Given the description of an element on the screen output the (x, y) to click on. 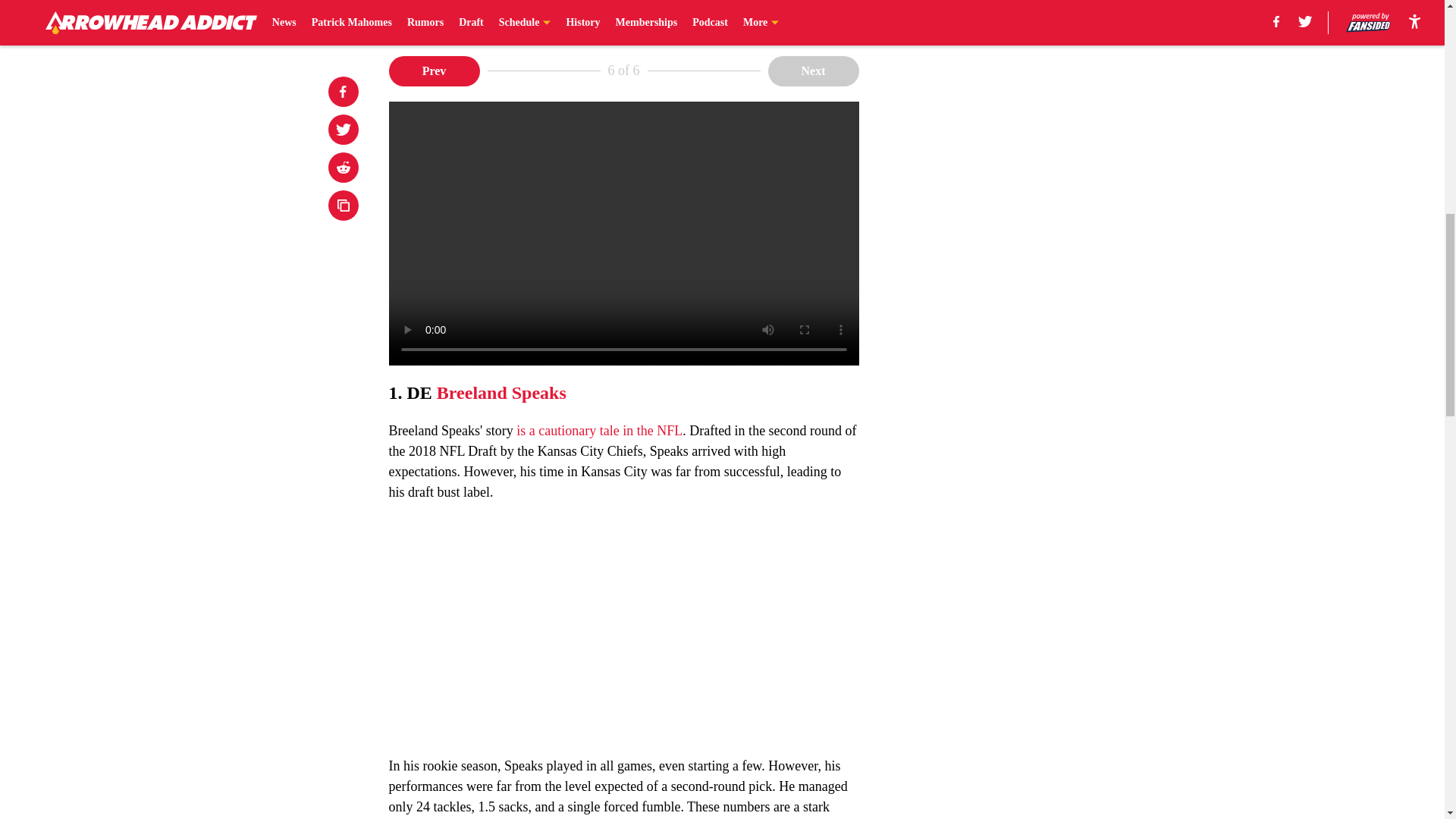
is a cautionary tale in the NFL (599, 430)
Prev (433, 71)
3rd party ad content (1047, 371)
3rd party ad content (1047, 150)
Next (813, 71)
Breeland Speaks (501, 392)
